Given the description of an element on the screen output the (x, y) to click on. 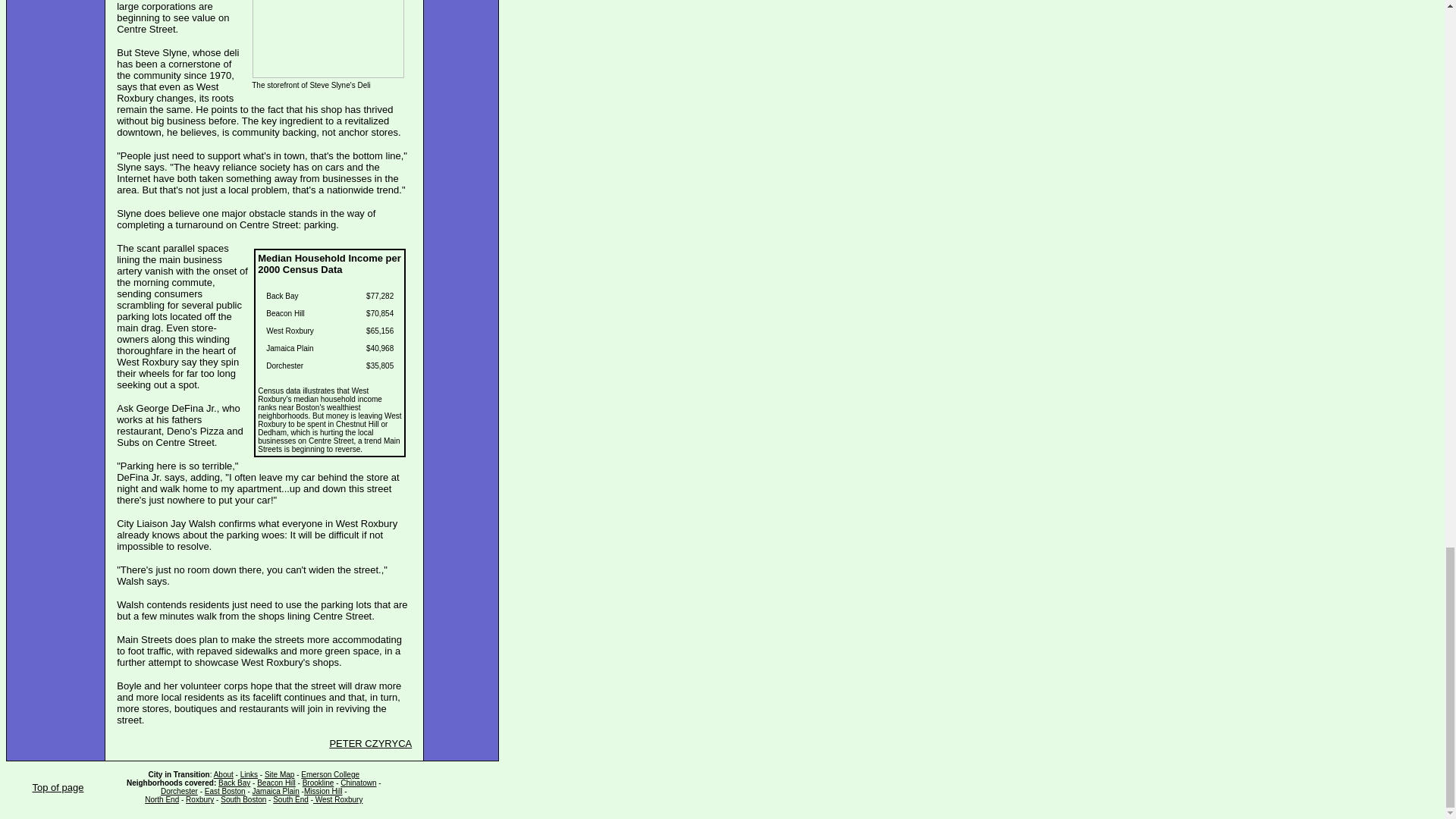
Brookline (318, 782)
Site Map (279, 774)
About (223, 774)
Top of page (58, 786)
Chinatown (357, 782)
Beacon Hill (276, 782)
Emerson College (330, 774)
Links (248, 774)
Back Bay (234, 782)
PETER CZYRYCA (370, 743)
